Given the description of an element on the screen output the (x, y) to click on. 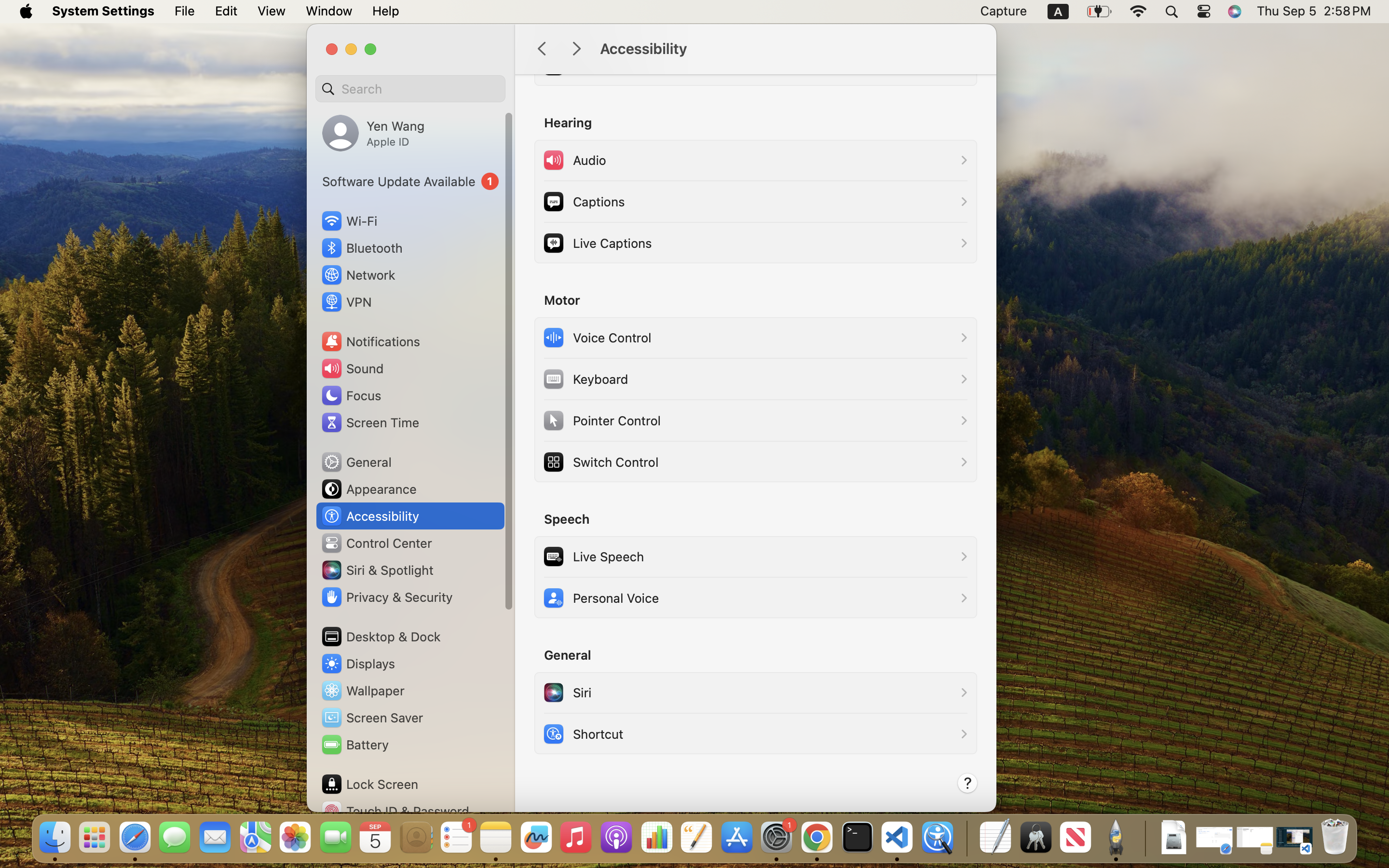
Control Center Element type: AXStaticText (376, 542)
Displays Element type: AXStaticText (357, 663)
Wi‑Fi Element type: AXStaticText (348, 220)
Screen Time Element type: AXStaticText (369, 422)
Screen Saver Element type: AXStaticText (371, 717)
